Given the description of an element on the screen output the (x, y) to click on. 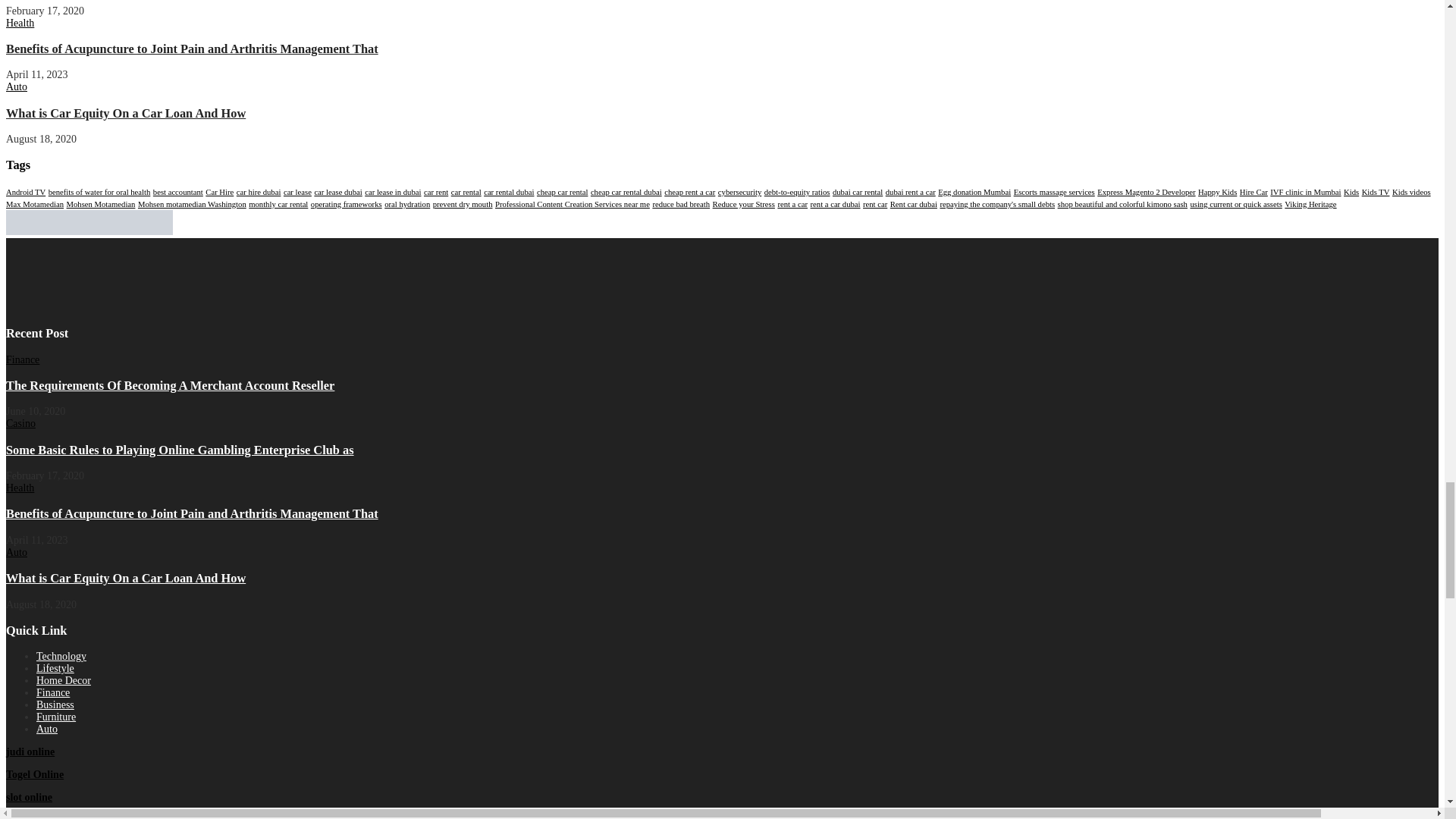
The Requirements Of Becoming A Merchant Account Reseller (169, 385)
What is Car Equity On a Car Loan And How Can You Use It? (125, 577)
What is Car Equity On a Car Loan And How Can You Use It? (125, 113)
